Given the description of an element on the screen output the (x, y) to click on. 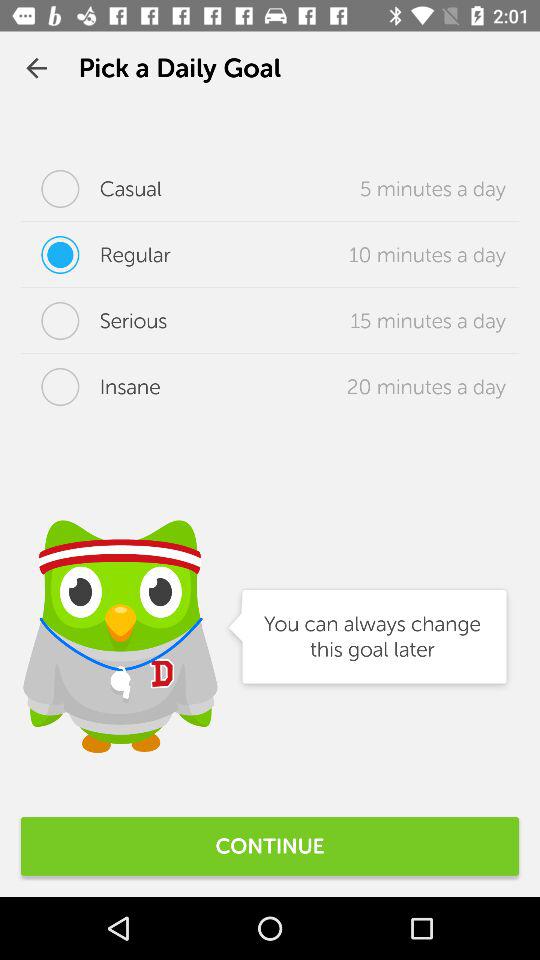
turn on icon next to 10 minutes a (95, 255)
